Given the description of an element on the screen output the (x, y) to click on. 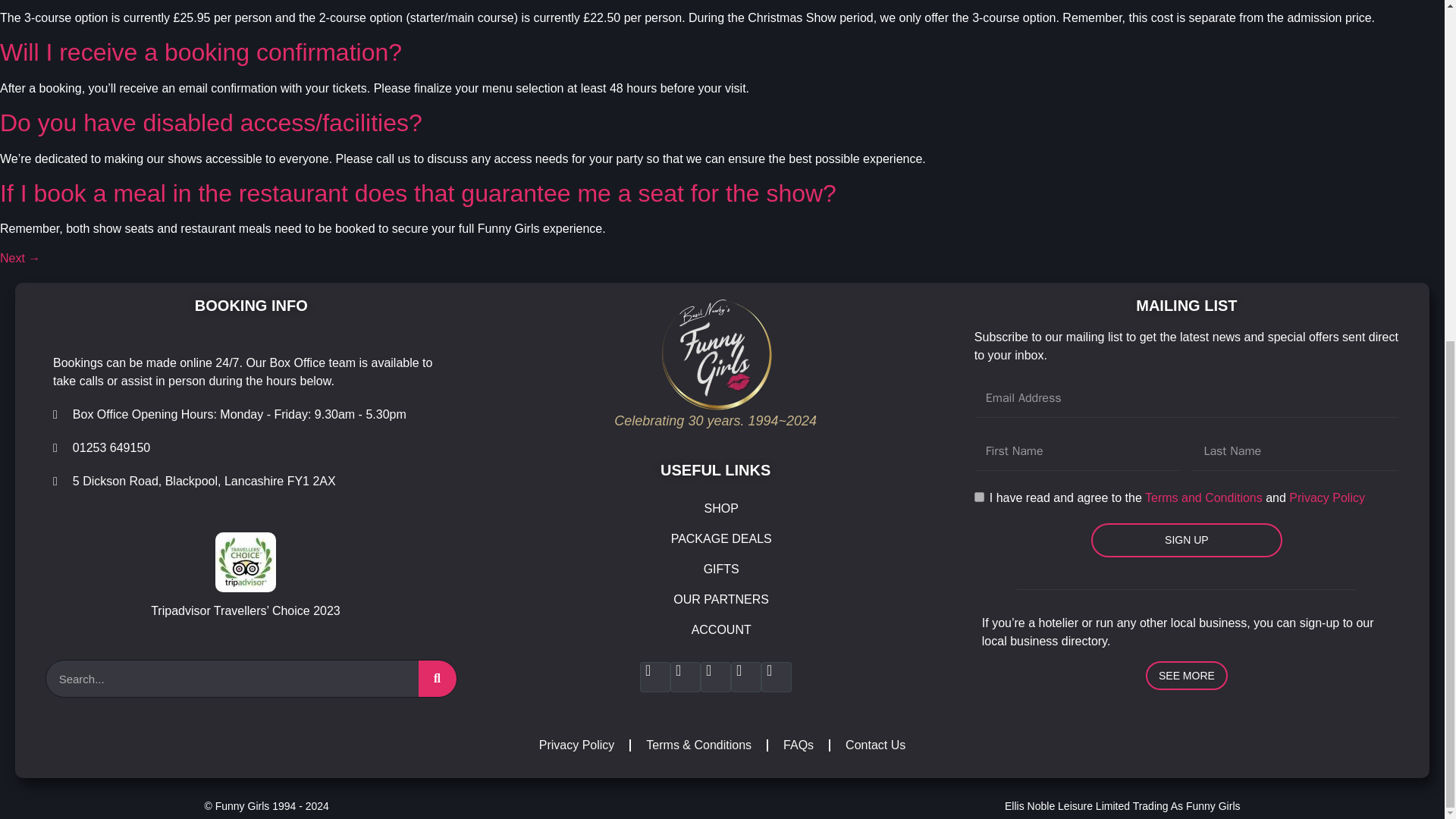
01253 649150 (100, 447)
PACKAGE DEALS (720, 539)
on (979, 497)
5 Dickson Road, Blackpool, Lancashire FY1 2AX (194, 481)
ACCOUNT (720, 630)
OUR PARTNERS (720, 599)
GIFTS (720, 569)
SHOP (720, 508)
Will I receive a booking confirmation? (200, 52)
